Given the description of an element on the screen output the (x, y) to click on. 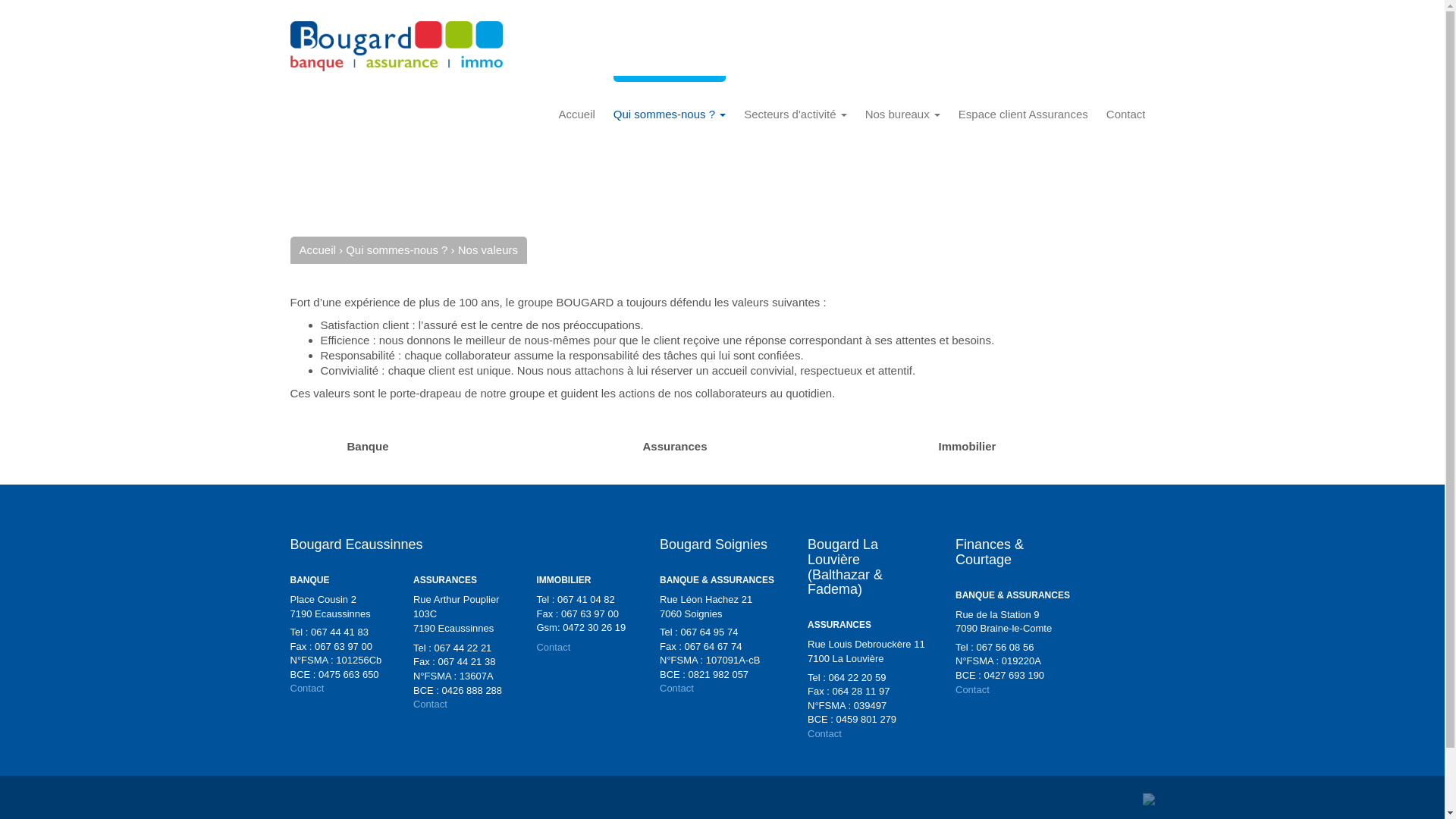
Contact Element type: text (553, 646)
Accueil Element type: text (318, 249)
Qui sommes-nous ? Element type: text (669, 114)
Banque Element type: text (345, 448)
Contact Element type: text (306, 687)
Assurances Element type: text (652, 448)
Contact Element type: text (1125, 114)
Contact Element type: text (824, 733)
Accueil Element type: text (576, 114)
Nos bureaux Element type: text (902, 114)
Qui sommes-nous ? Element type: text (397, 249)
Espace client Assurances Element type: text (1023, 114)
Immobilier Element type: text (944, 448)
Contact Element type: text (972, 689)
Contact Element type: text (676, 687)
Contact Element type: text (430, 703)
